Given the description of an element on the screen output the (x, y) to click on. 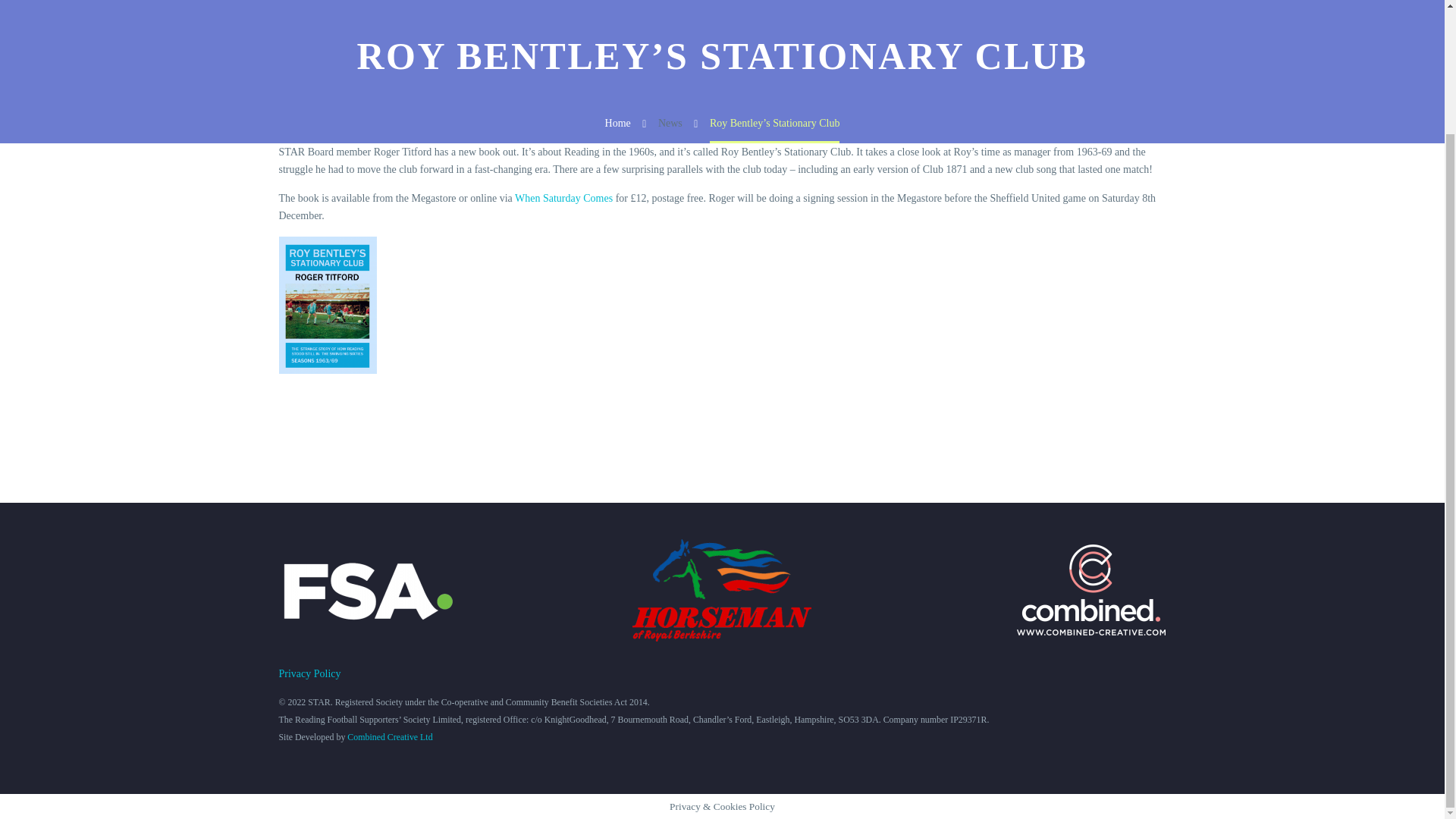
Horseman Logo (720, 589)
s (1323, 13)
When Saturday Comes (563, 197)
Asset 1 (1091, 589)
Home (617, 122)
Football Supporters Association (367, 589)
